Given the description of an element on the screen output the (x, y) to click on. 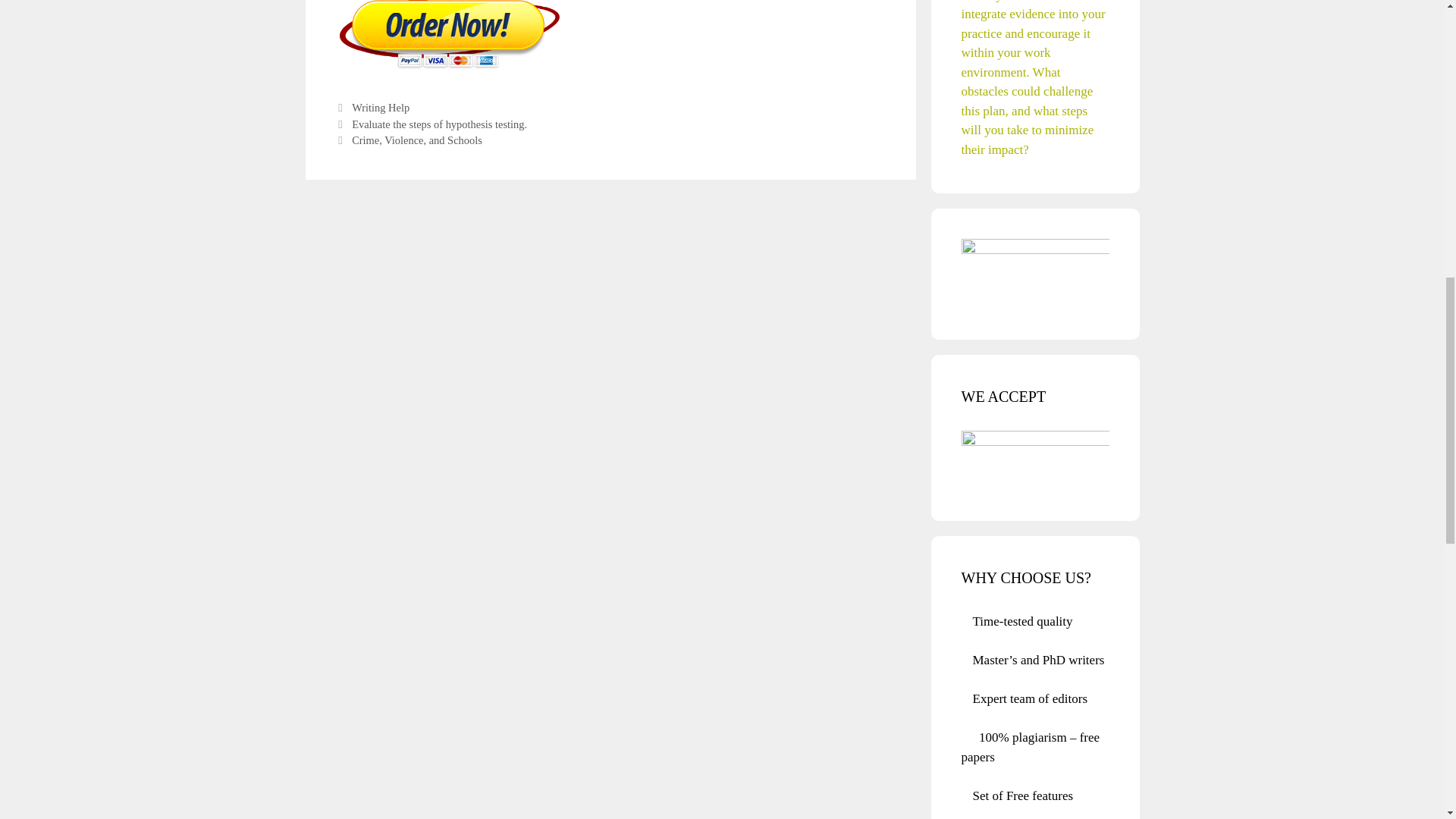
Previous (430, 124)
Evaluate the steps of hypothesis testing. (439, 123)
Writing Help (380, 107)
Next (407, 140)
Crime, Violence, and Schools (416, 140)
Click to Order (448, 67)
